Given the description of an element on the screen output the (x, y) to click on. 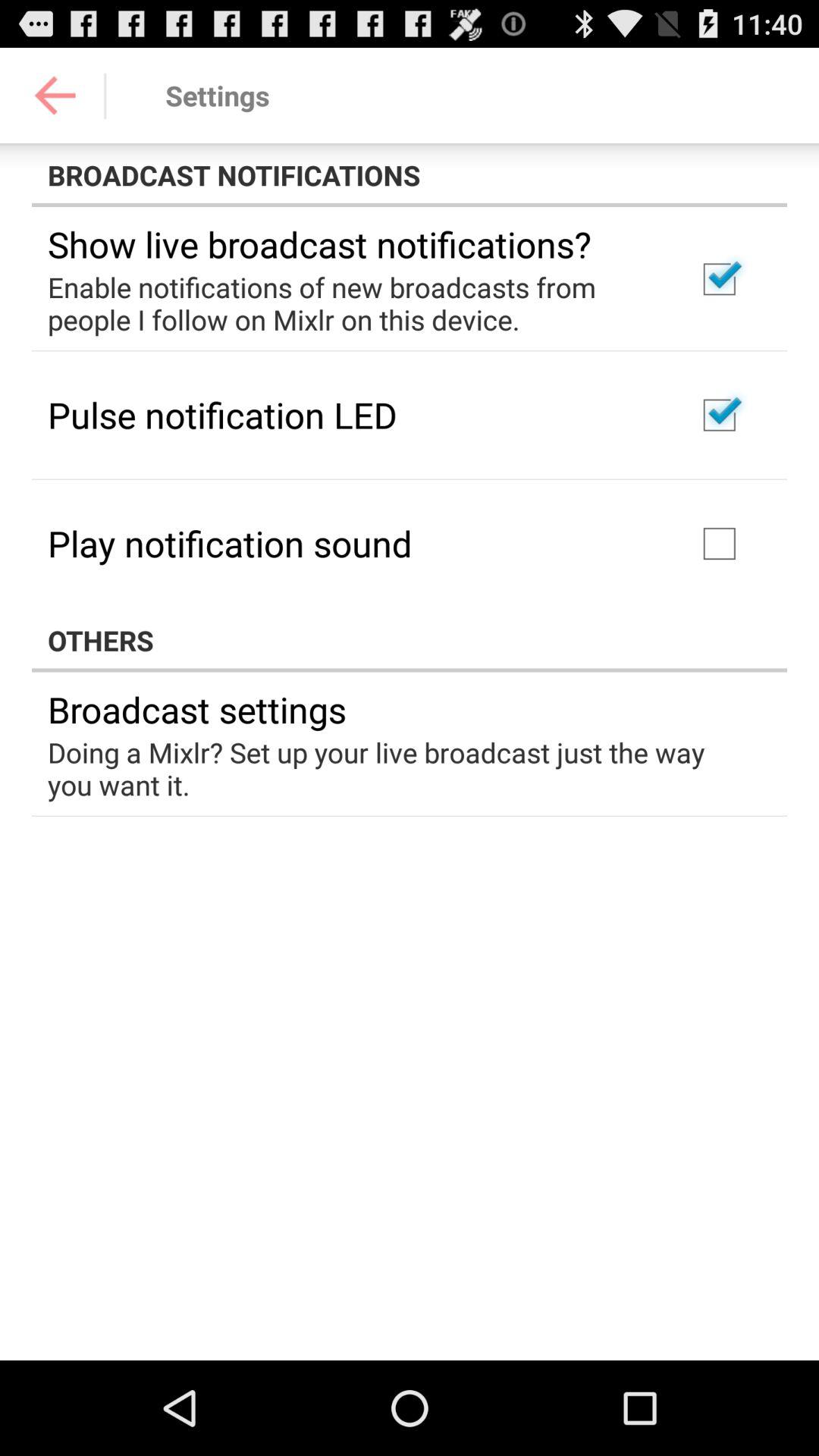
select the others app (409, 640)
